Given the description of an element on the screen output the (x, y) to click on. 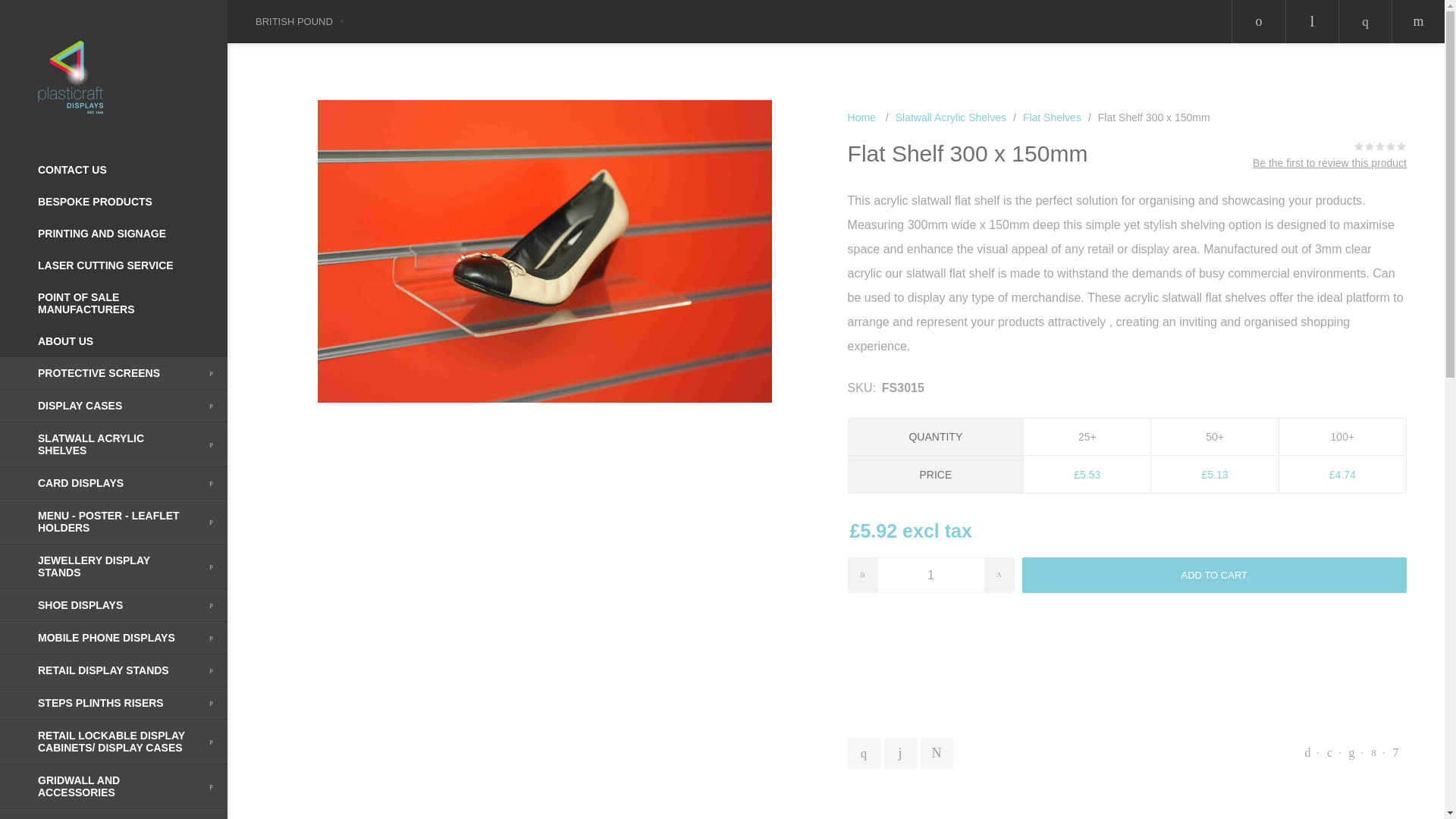
Add to cart (1214, 574)
MENU - POSTER - LEAFLET HOLDERS (113, 521)
CONTACT US (113, 169)
POINT OF SALE MANUFACTURERS (113, 303)
DISPLAY CASES (113, 405)
CARD DISPLAYS (113, 482)
PayPal (1126, 652)
1 (930, 574)
PRINTING AND SIGNAGE (113, 233)
SLATWALL ACRYLIC SHELVES (113, 444)
LASER CUTTING SERVICE (113, 265)
PROTECTIVE SCREENS (113, 373)
BESPOKE PRODUCTS (113, 201)
ABOUT US (113, 341)
